Given the description of an element on the screen output the (x, y) to click on. 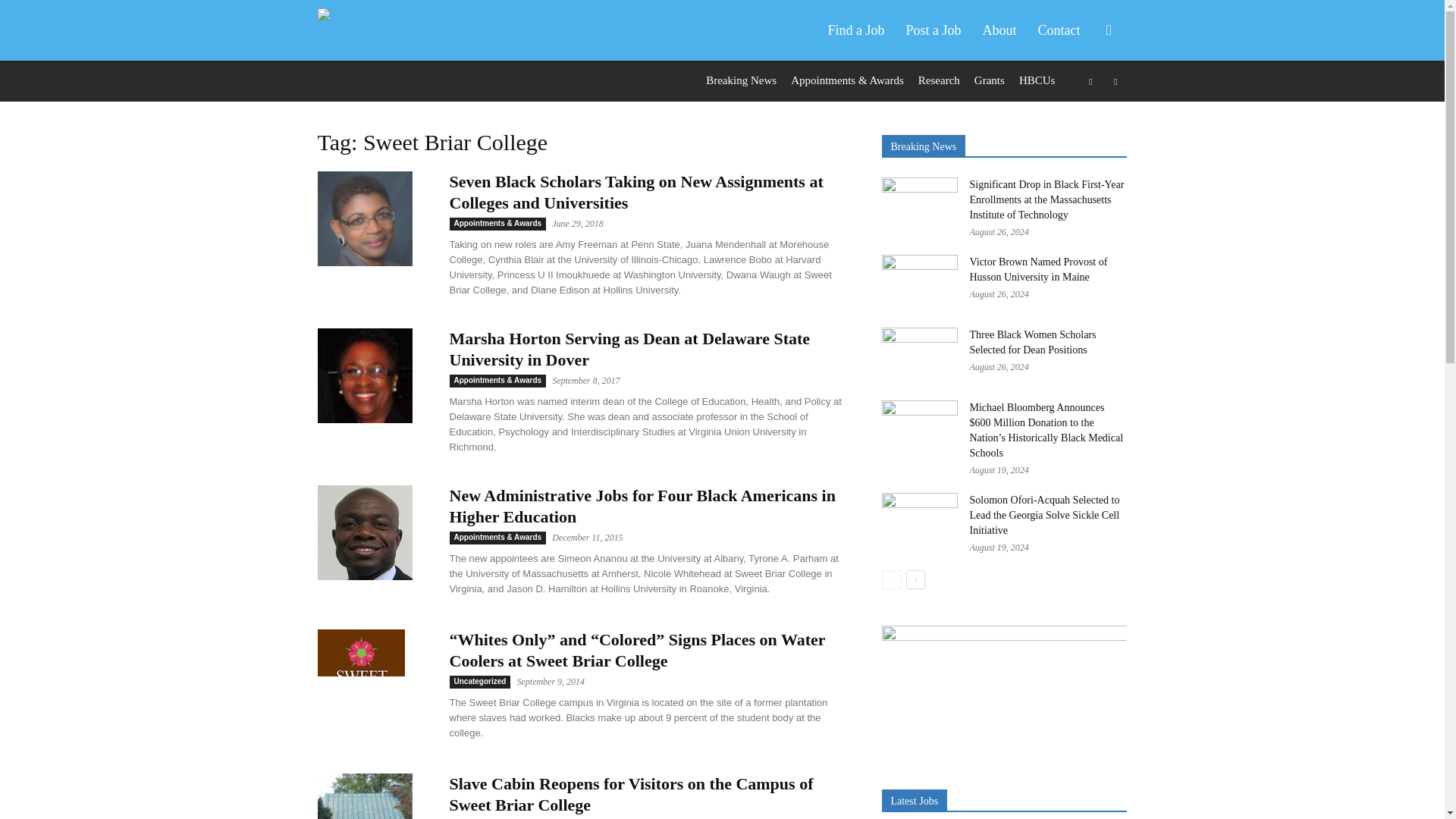
Uncategorized (479, 681)
The Journal of Blacks in Higher Education (344, 30)
Breaking News (741, 80)
Find a Job (855, 30)
about (999, 30)
Contact (1058, 30)
